Given the description of an element on the screen output the (x, y) to click on. 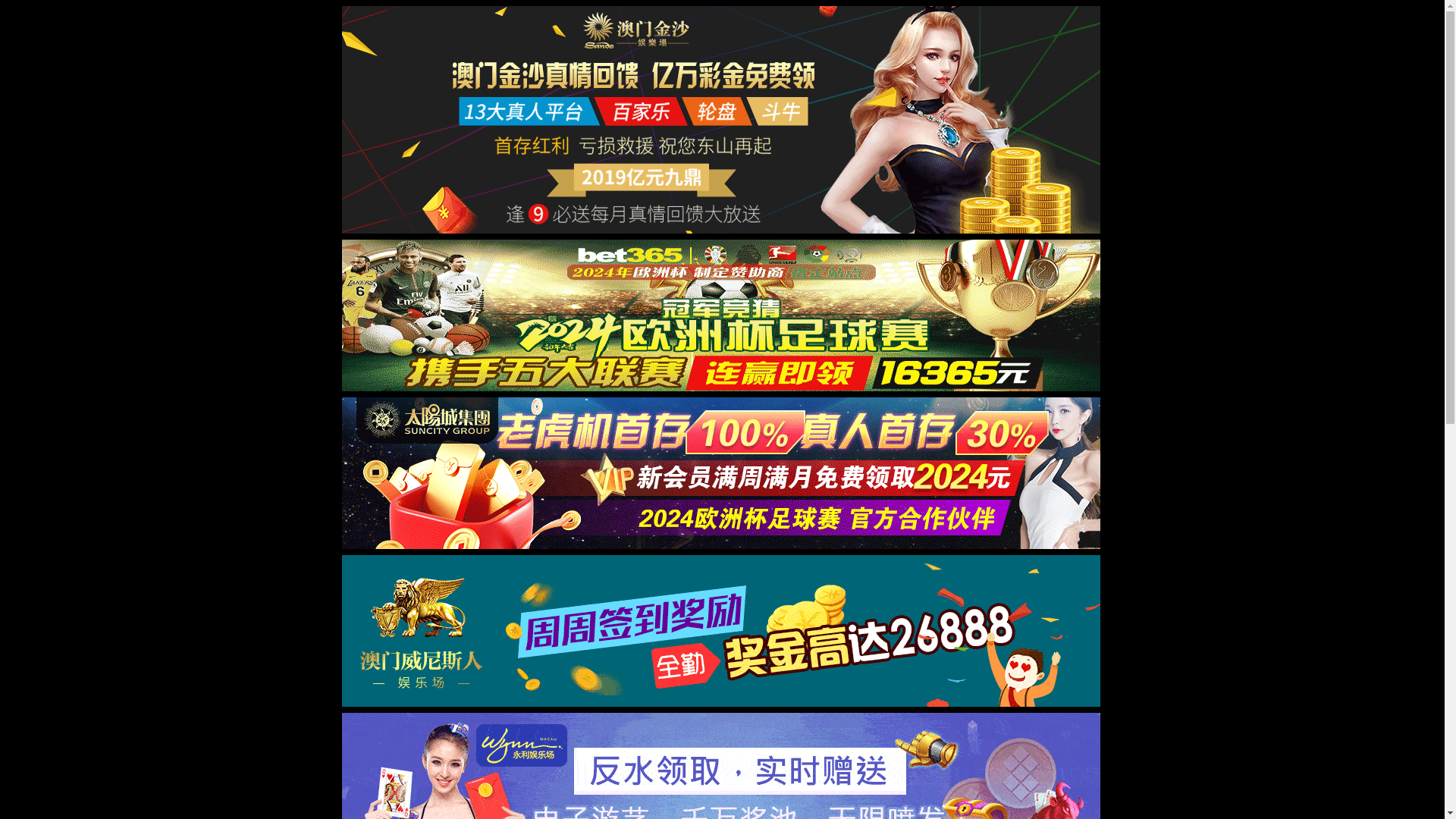
HR (1136, 31)
About us (733, 31)
Contact us (1191, 31)
Partner (842, 31)
Case Study (972, 31)
News (789, 31)
Products (903, 31)
Home (675, 31)
Corporate culture (1064, 31)
